Given the description of an element on the screen output the (x, y) to click on. 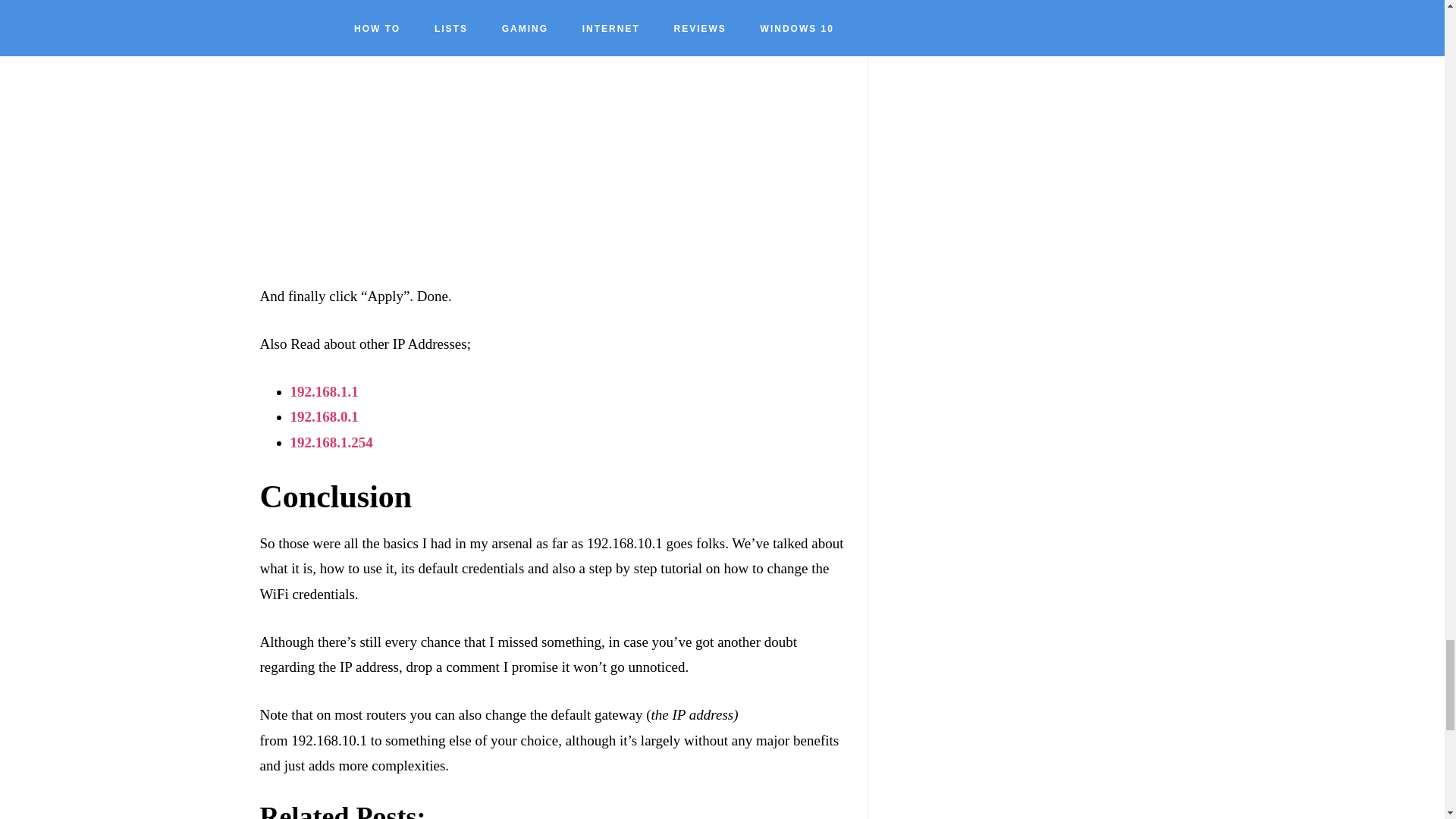
192.168.1.254 (330, 442)
192.168.0.1 (323, 416)
192.168.1.1 (323, 391)
